Given the description of an element on the screen output the (x, y) to click on. 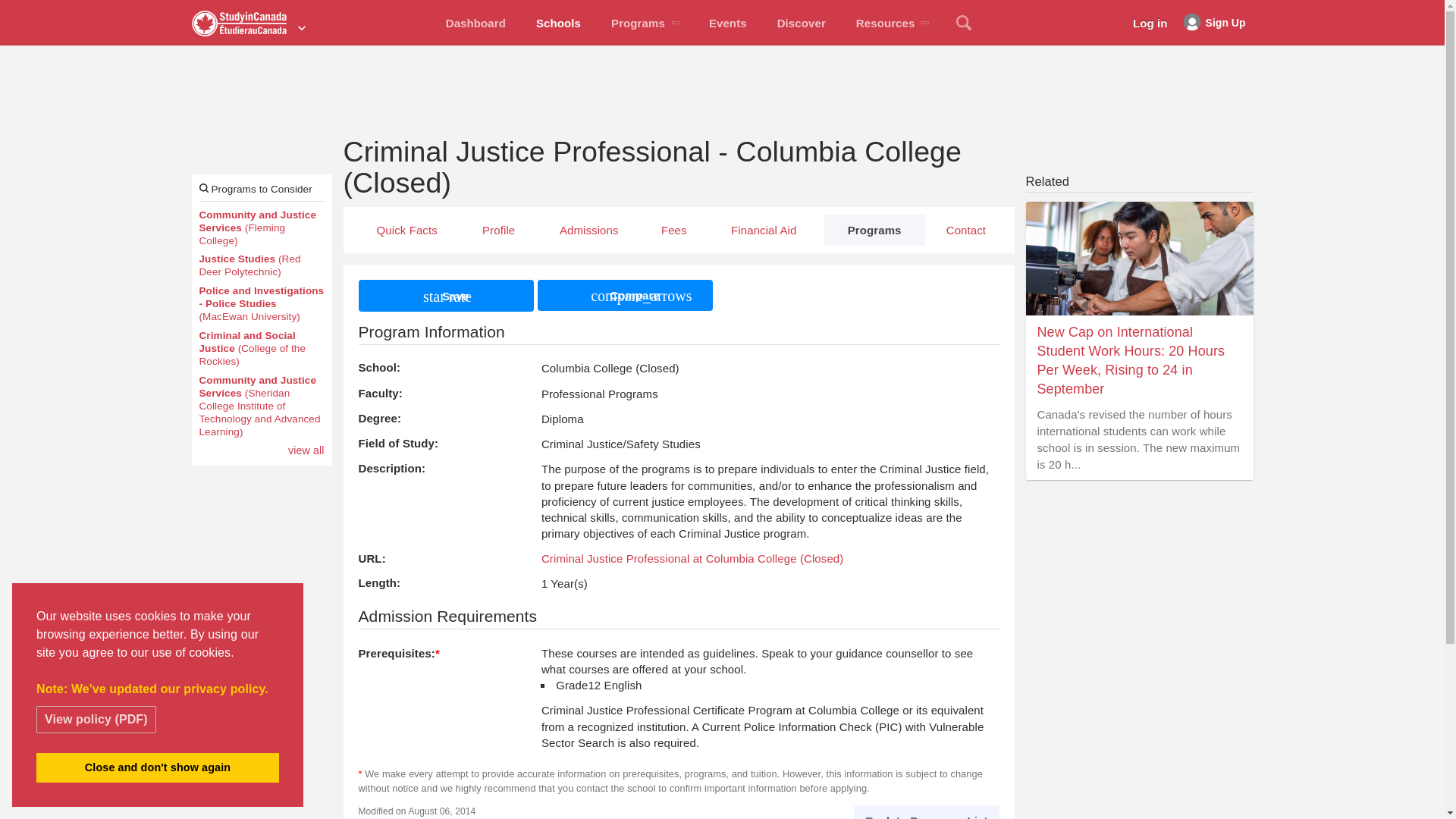
Profile (498, 228)
Fees (673, 228)
Dashboard (475, 22)
Programs (874, 228)
Quick Facts (406, 228)
Advertisement (1138, 585)
Contact (965, 228)
Programs (644, 22)
Schools (558, 22)
Financial Aid (764, 228)
Admissions (588, 228)
Discover (801, 22)
mySTUFF (475, 22)
Resources (892, 22)
Sign Up (1213, 22)
